Given the description of an element on the screen output the (x, y) to click on. 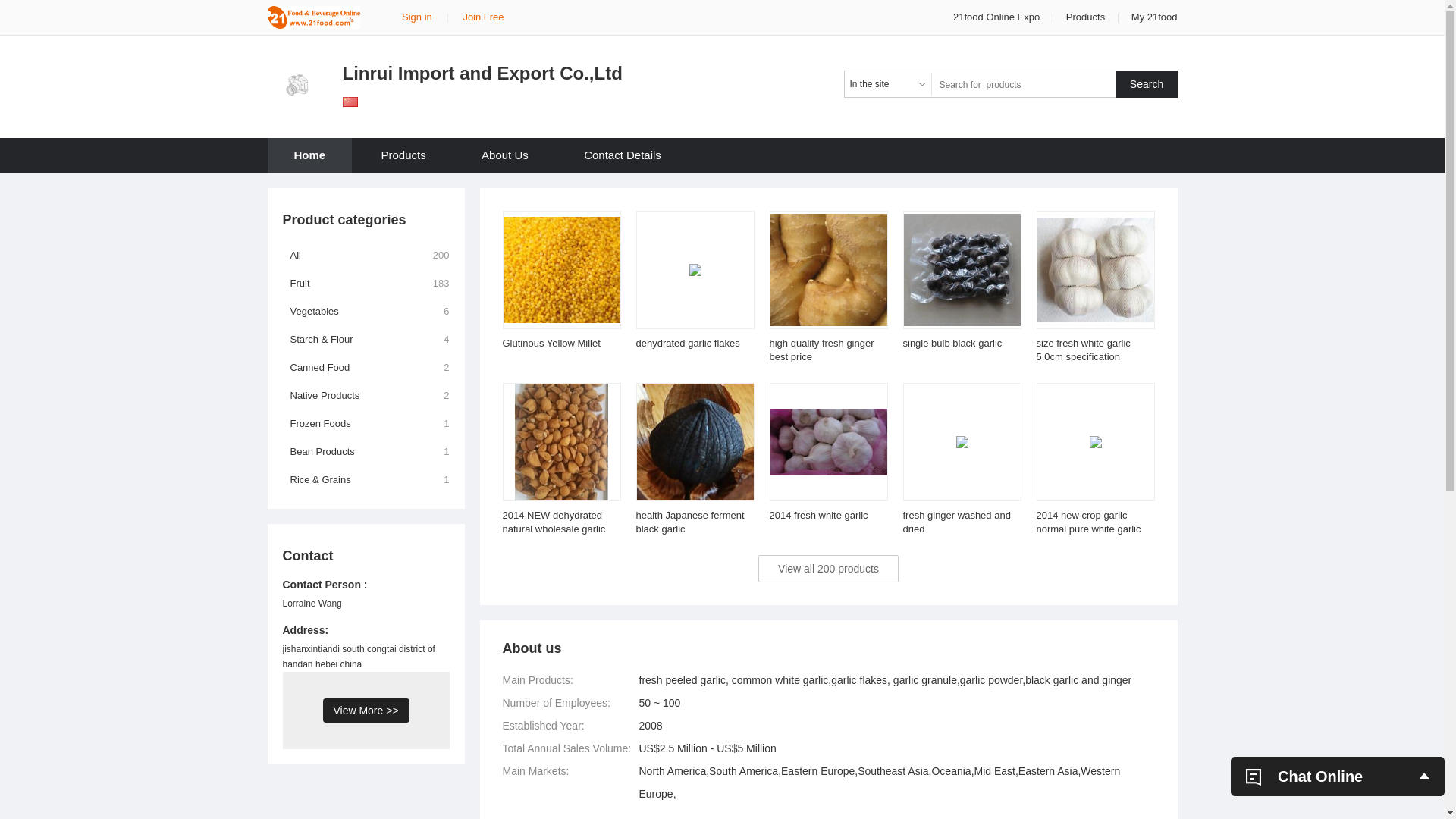
View More >> Element type: text (366, 710)
dehydrated garlic flakes Element type: text (687, 342)
size fresh white garlic 5.0cm specification Element type: text (1082, 349)
About Us Element type: text (505, 155)
21food Online Expo Element type: text (997, 16)
View all 200 products Element type: text (828, 568)
Products Element type: text (1085, 16)
fresh ginger washed and dried Element type: text (956, 521)
Join Free Element type: text (482, 16)
Products Element type: text (403, 155)
Contact Details Element type: text (622, 155)
health Japanese ferment black garlic Element type: text (689, 521)
Glutinous Yellow Millet Element type: text (550, 342)
2014 fresh white garlic Element type: text (817, 514)
Home Element type: text (308, 155)
Search Element type: text (1146, 83)
My 21food Element type: text (1154, 16)
high quality fresh ginger best price Element type: text (820, 349)
Sign in Element type: text (416, 16)
2014 new crop garlic normal pure white garlic Element type: text (1087, 521)
single bulb black garlic Element type: text (951, 342)
